Given the description of an element on the screen output the (x, y) to click on. 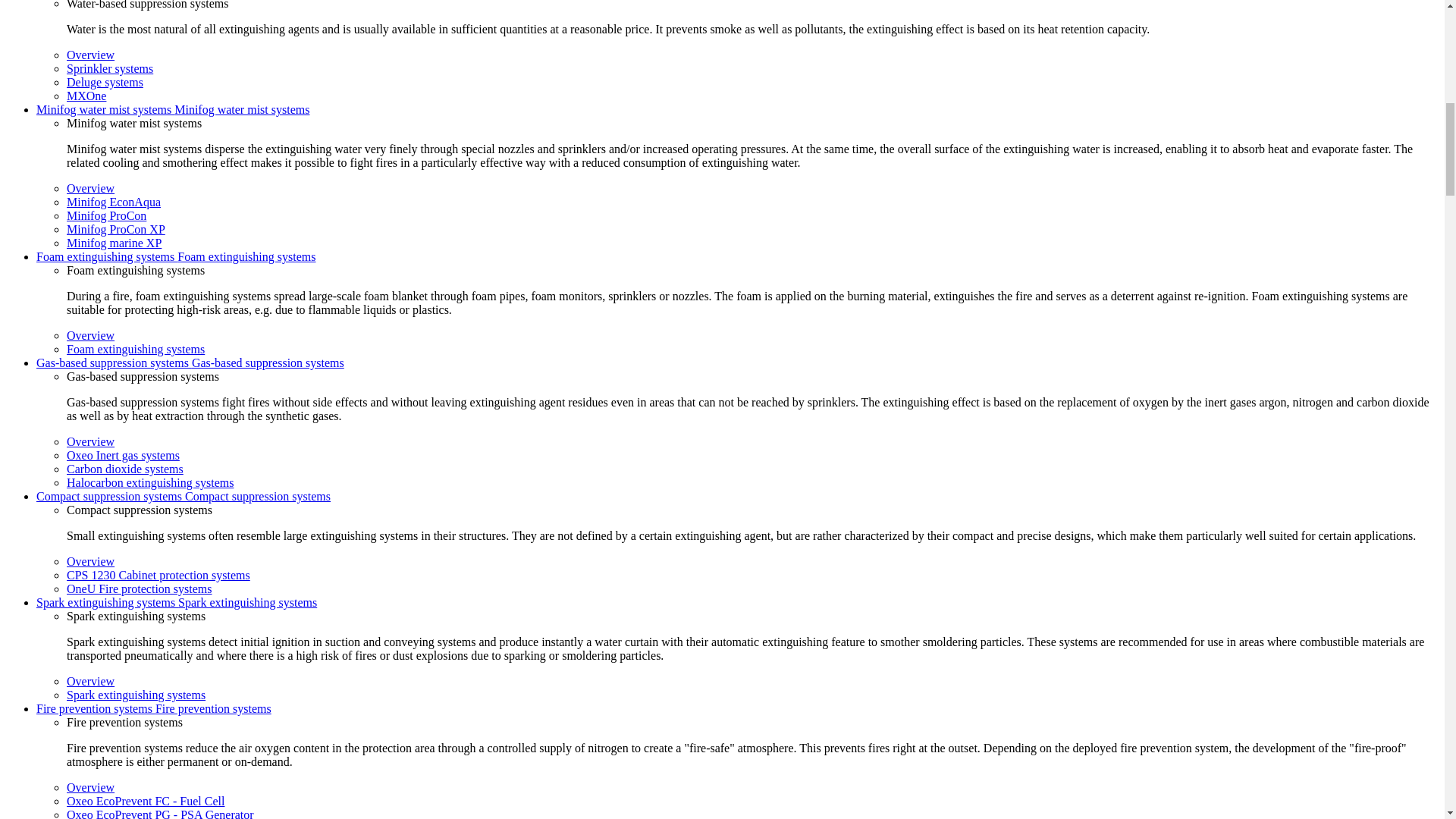
MXOne (86, 95)
Overview (90, 54)
Sprinkler systems (109, 68)
Deluge systems (104, 82)
